Given the description of an element on the screen output the (x, y) to click on. 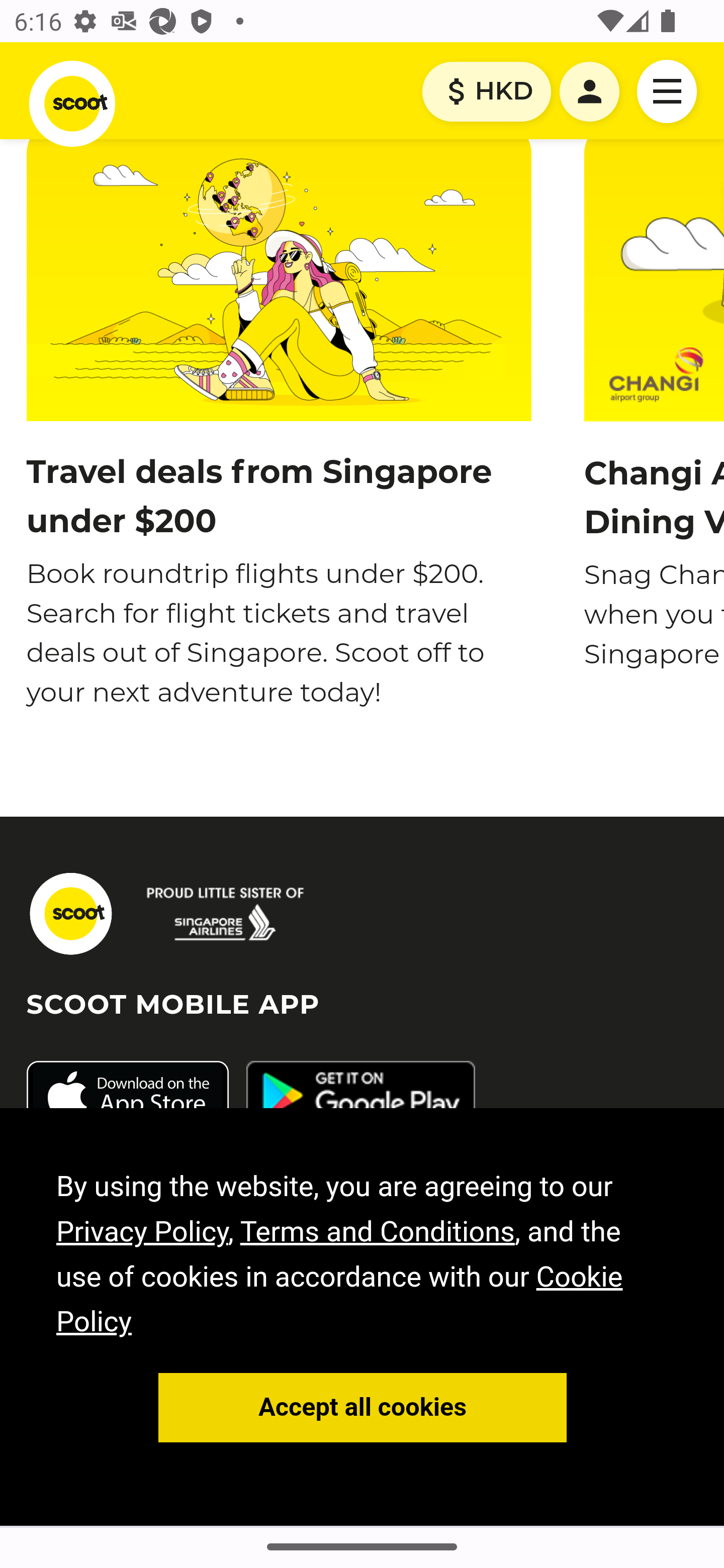
Scoot (71, 103)
Toggle Menu (667, 91)
attach_moneyHKD (486, 92)
person (590, 92)
Travel deals from Singapore under $200 (258, 497)
Back to Classic flyscoot.com (69, 913)
search (225, 913)
id898287610?pt=92295801&ct=flyscoot&mt=8 (126, 1098)
googleplay (360, 1098)
Privacy Policy (142, 1232)
Terms and Conditions (377, 1232)
Cookie Policy (340, 1301)
Accept all cookies (362, 1408)
